Given the description of an element on the screen output the (x, y) to click on. 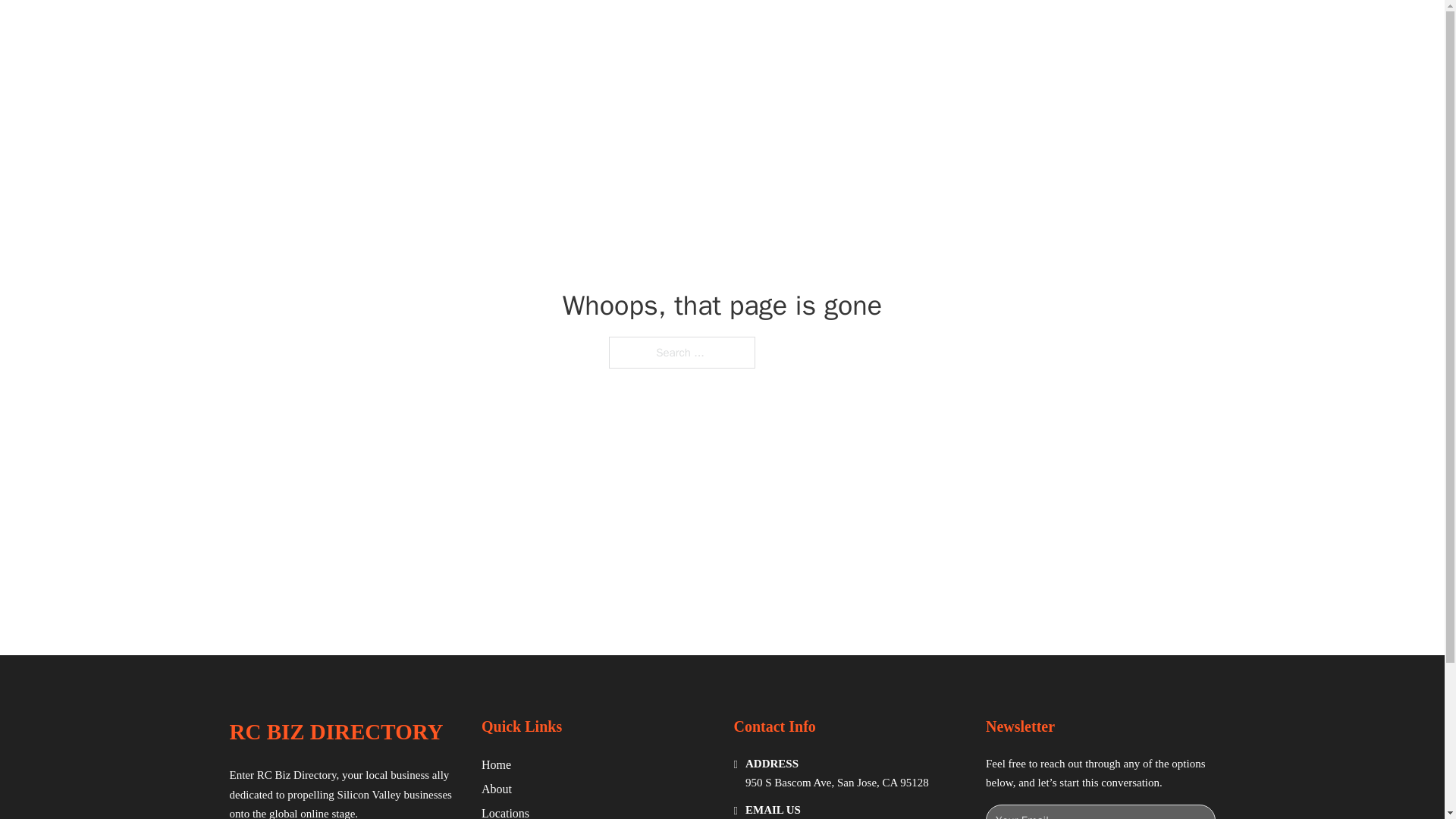
Home (496, 764)
Locations (505, 811)
About (496, 788)
LOCATIONS (990, 29)
RC BIZ DIRECTORY (404, 28)
RC BIZ DIRECTORY (335, 732)
HOME (919, 29)
